Given the description of an element on the screen output the (x, y) to click on. 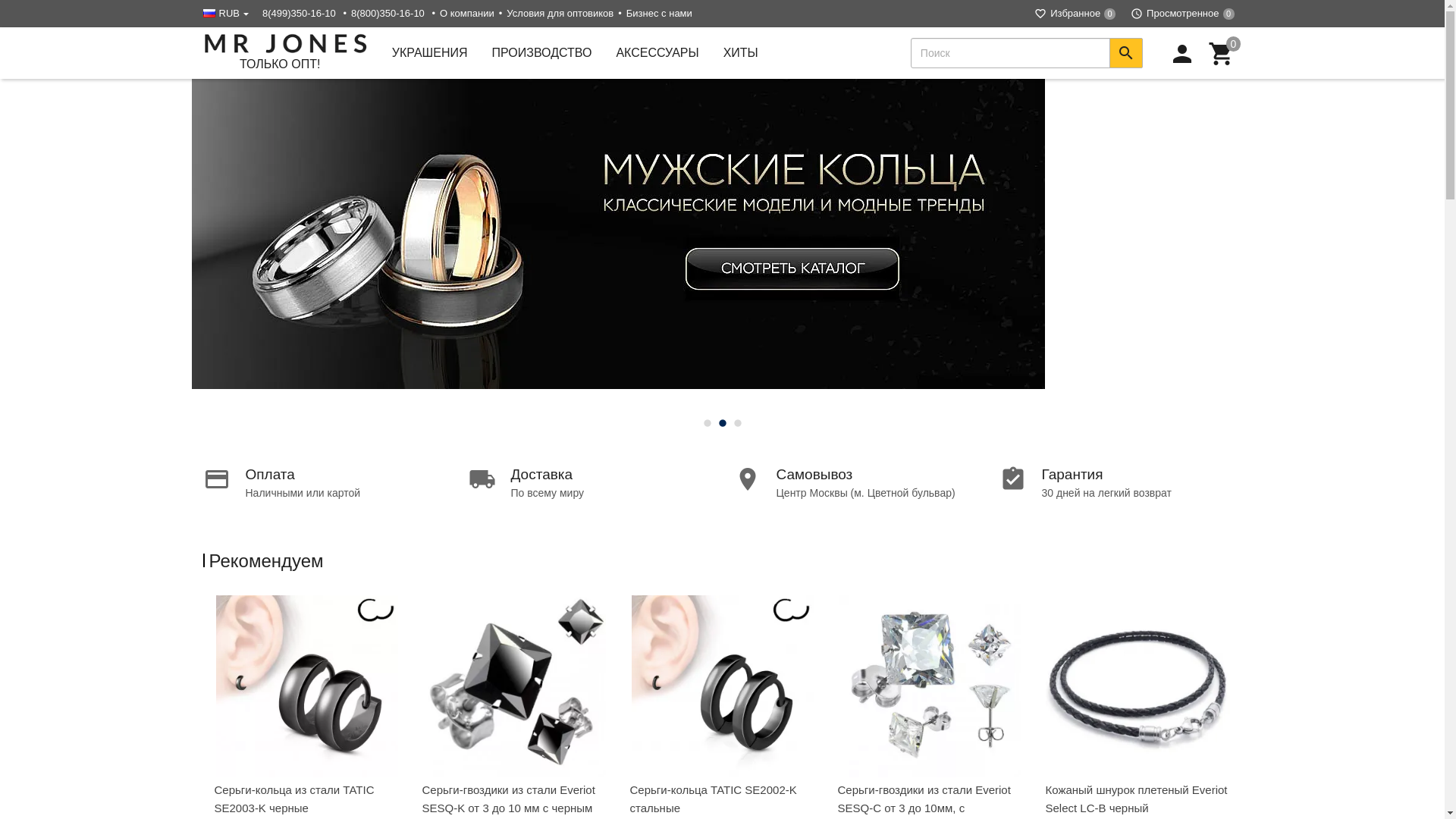
RUB Element type: text (228, 12)
2 Element type: text (721, 422)
3 Element type: text (736, 422)
8(499)350-16-10 Element type: text (298, 12)
1 Element type: text (706, 422)
8(800)350-16-10 Element type: text (387, 12)
